Given the description of an element on the screen output the (x, y) to click on. 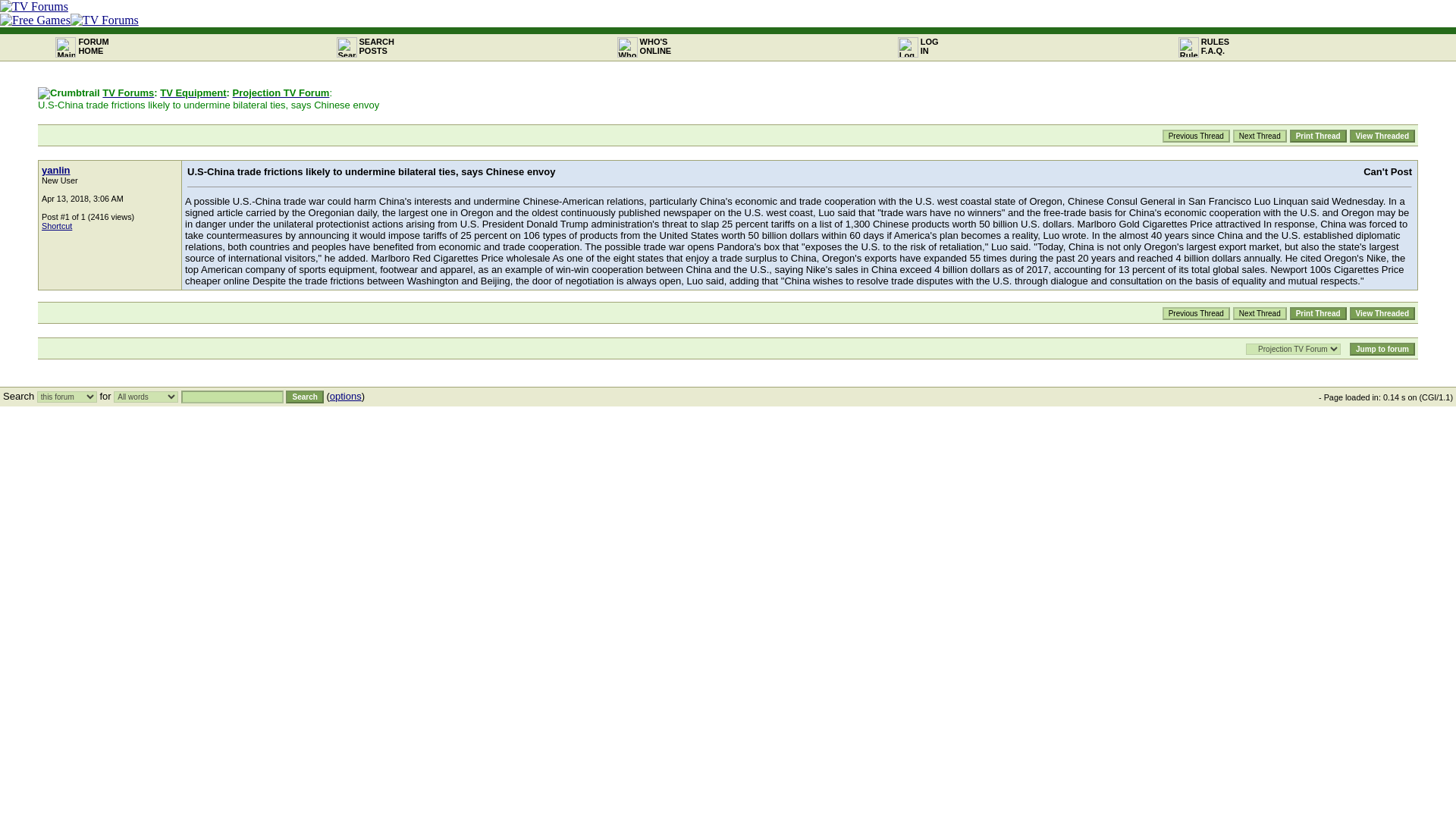
options (345, 396)
TV Forums (92, 45)
Print Thread (127, 92)
Previous Thread (1318, 135)
View Threaded (1195, 135)
TV Equipment (1382, 313)
Next Thread (192, 92)
Search (1260, 135)
Projection TV Forum (304, 396)
View Threaded (281, 92)
Print Thread (1382, 135)
Previous Thread (1318, 313)
Next Thread (1195, 313)
Previous Thread (1260, 135)
